Given the description of an element on the screen output the (x, y) to click on. 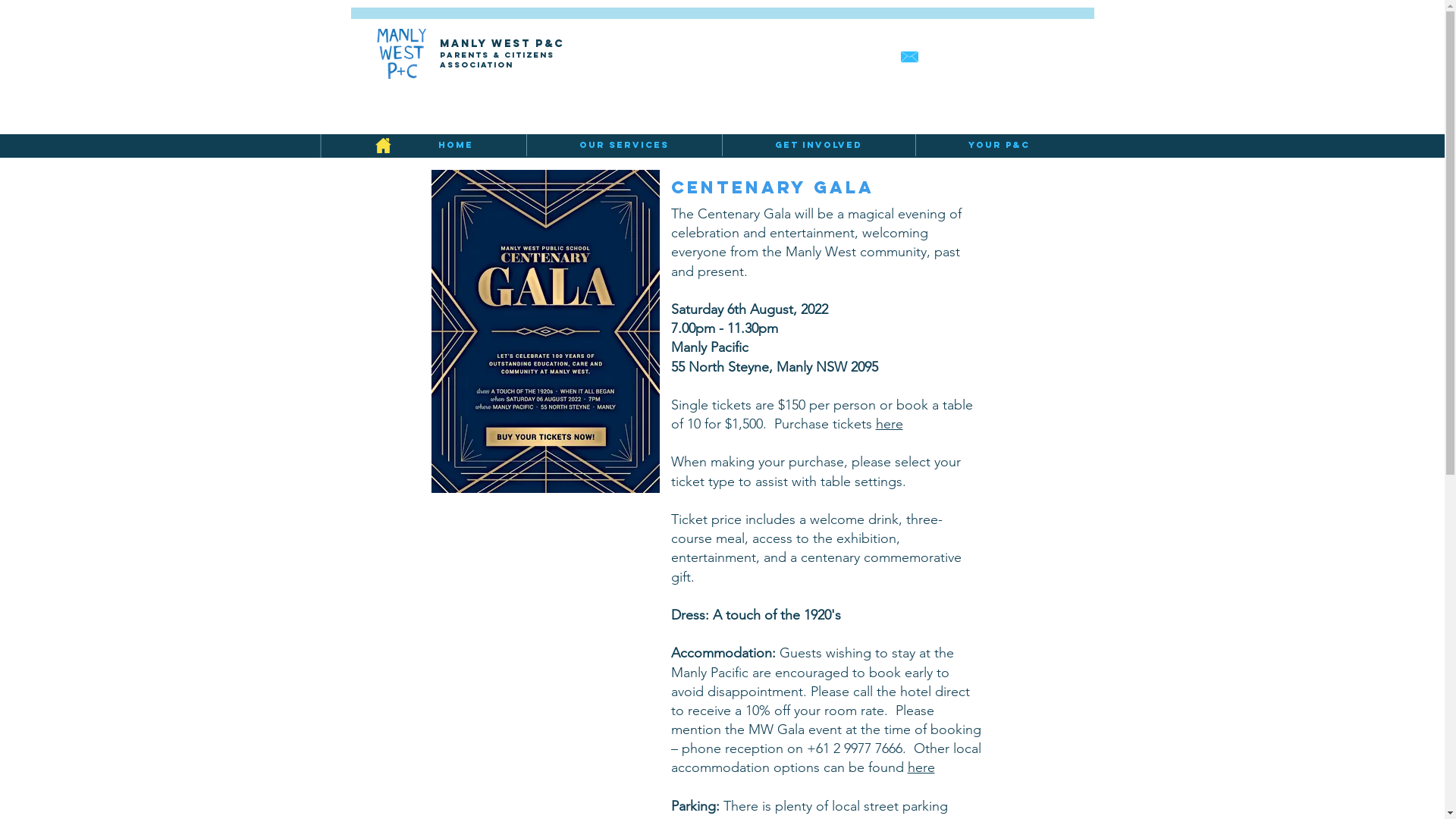
GET INVOLVED Element type: text (818, 144)
ASSOCIATION Element type: text (476, 64)
HOME Element type: text (455, 144)
Manly West P&C
Parents & Citizens Element type: text (501, 49)
Site Search Element type: hover (1003, 56)
here Element type: text (920, 767)
here Element type: text (888, 423)
